Given the description of an element on the screen output the (x, y) to click on. 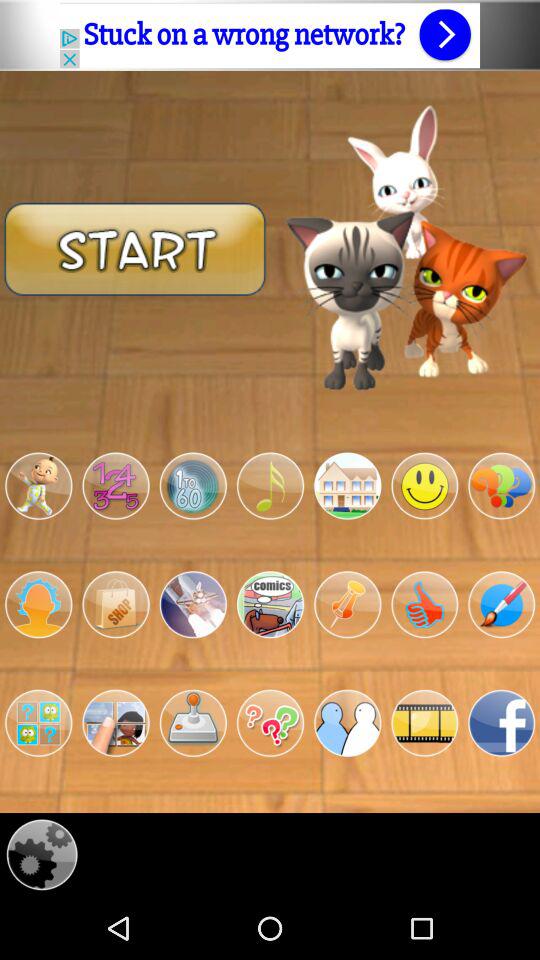
open game pad (192, 723)
